Given the description of an element on the screen output the (x, y) to click on. 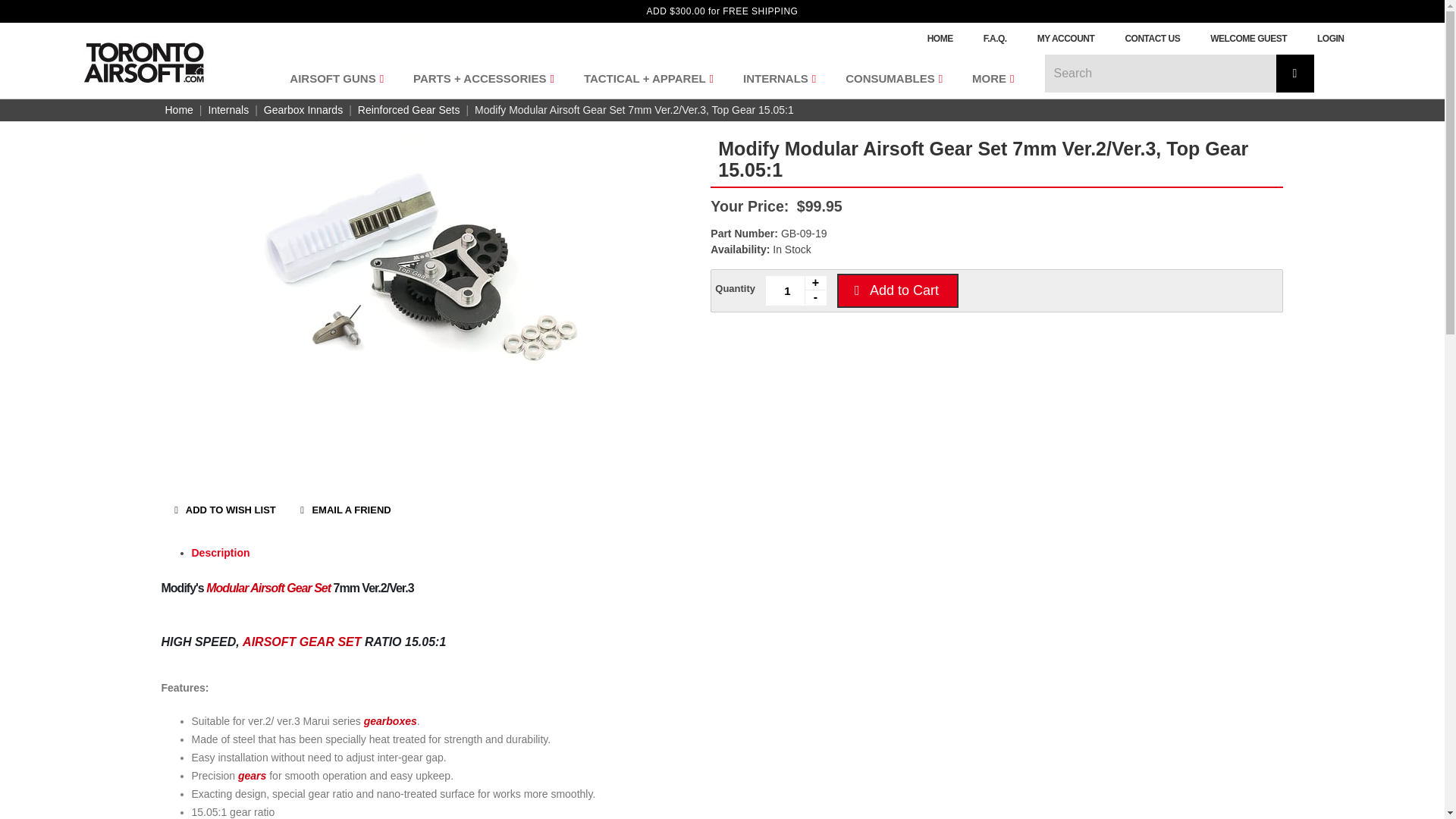
Login to Account (1330, 38)
HOME (940, 38)
CONTACT US (1152, 38)
AIRSOFT GUNS (334, 78)
MY ACCOUNT (1065, 38)
F.A.Q. (995, 38)
WELCOME GUEST (1248, 38)
LOGIN (1330, 38)
1 (796, 290)
Login Welcome (1248, 38)
